Given the description of an element on the screen output the (x, y) to click on. 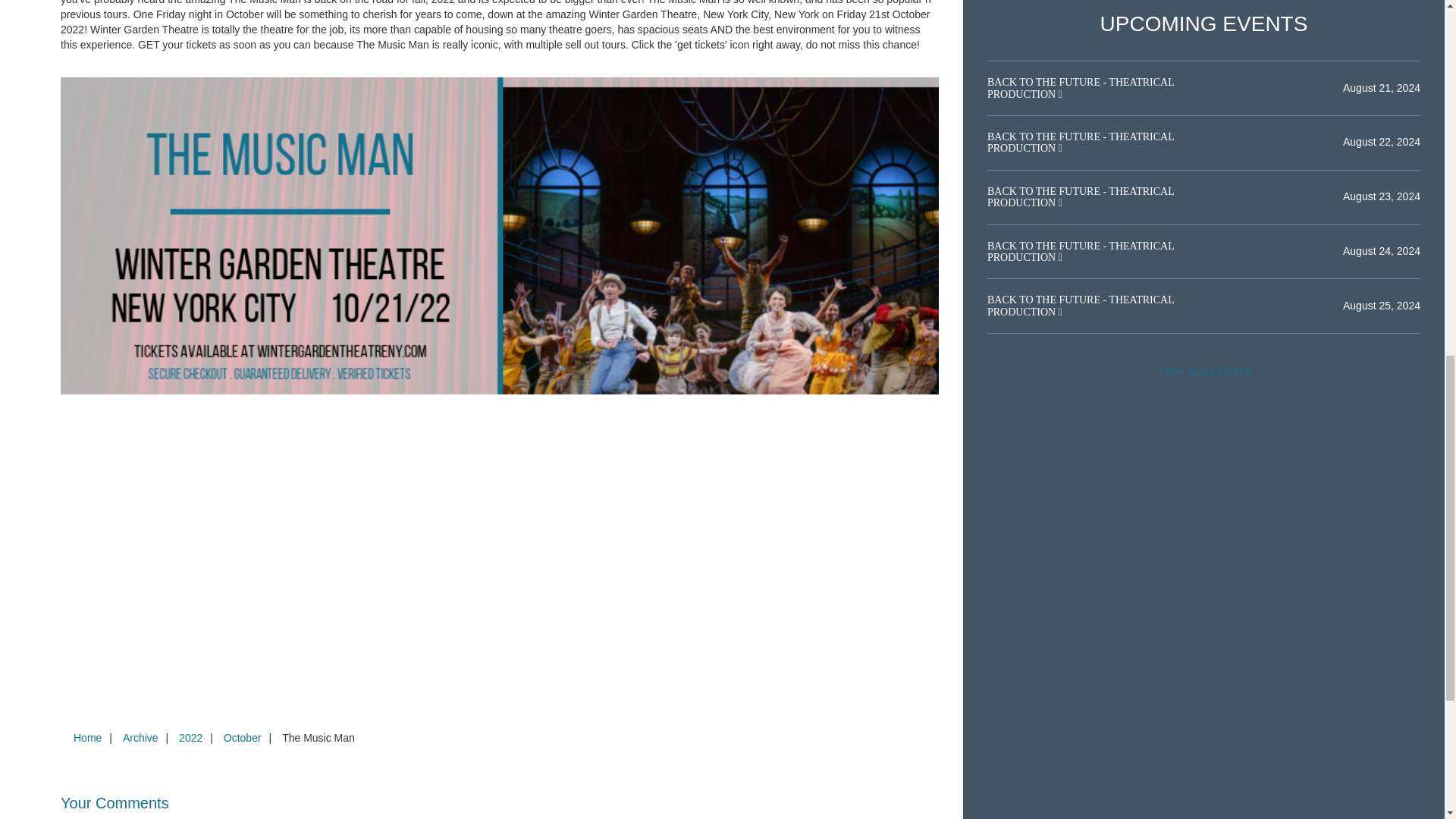
Archive (140, 737)
Home (87, 737)
October (242, 737)
2022 (190, 737)
VIEW ALL EVENTS (1203, 371)
